Given the description of an element on the screen output the (x, y) to click on. 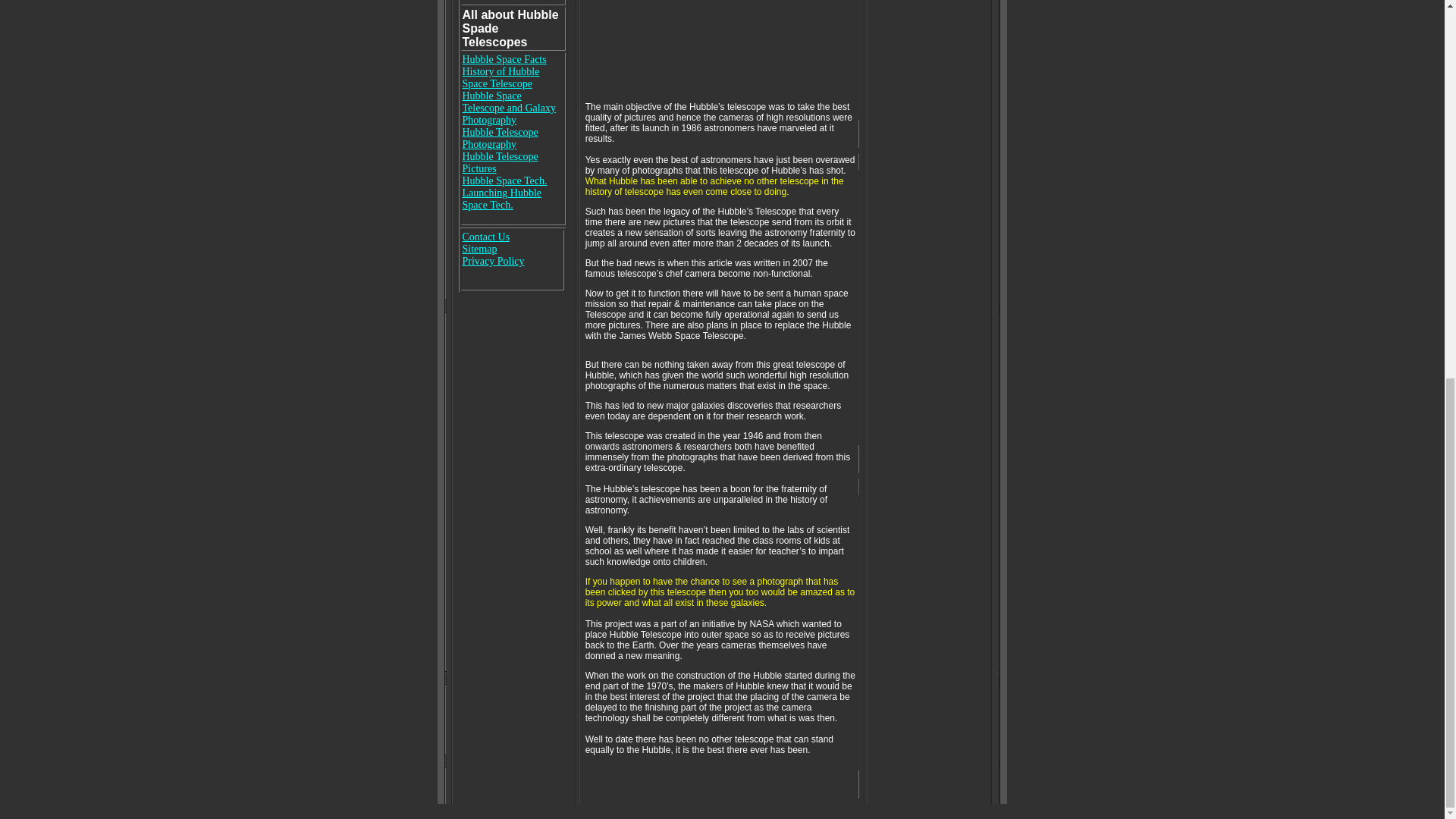
Hubble Telescope Pictures (500, 162)
Hubble Space Tech. (505, 180)
Advertisement (698, 46)
Sitemap (480, 248)
Privacy Policy (493, 260)
Hubble Space Facts (505, 59)
Hubble Space Telescope and Galaxy Photography (509, 108)
Hubble Telescope Photography (500, 137)
Launching Hubble Space Tech. (502, 204)
History of Hubble Space Telescope (501, 77)
